Given the description of an element on the screen output the (x, y) to click on. 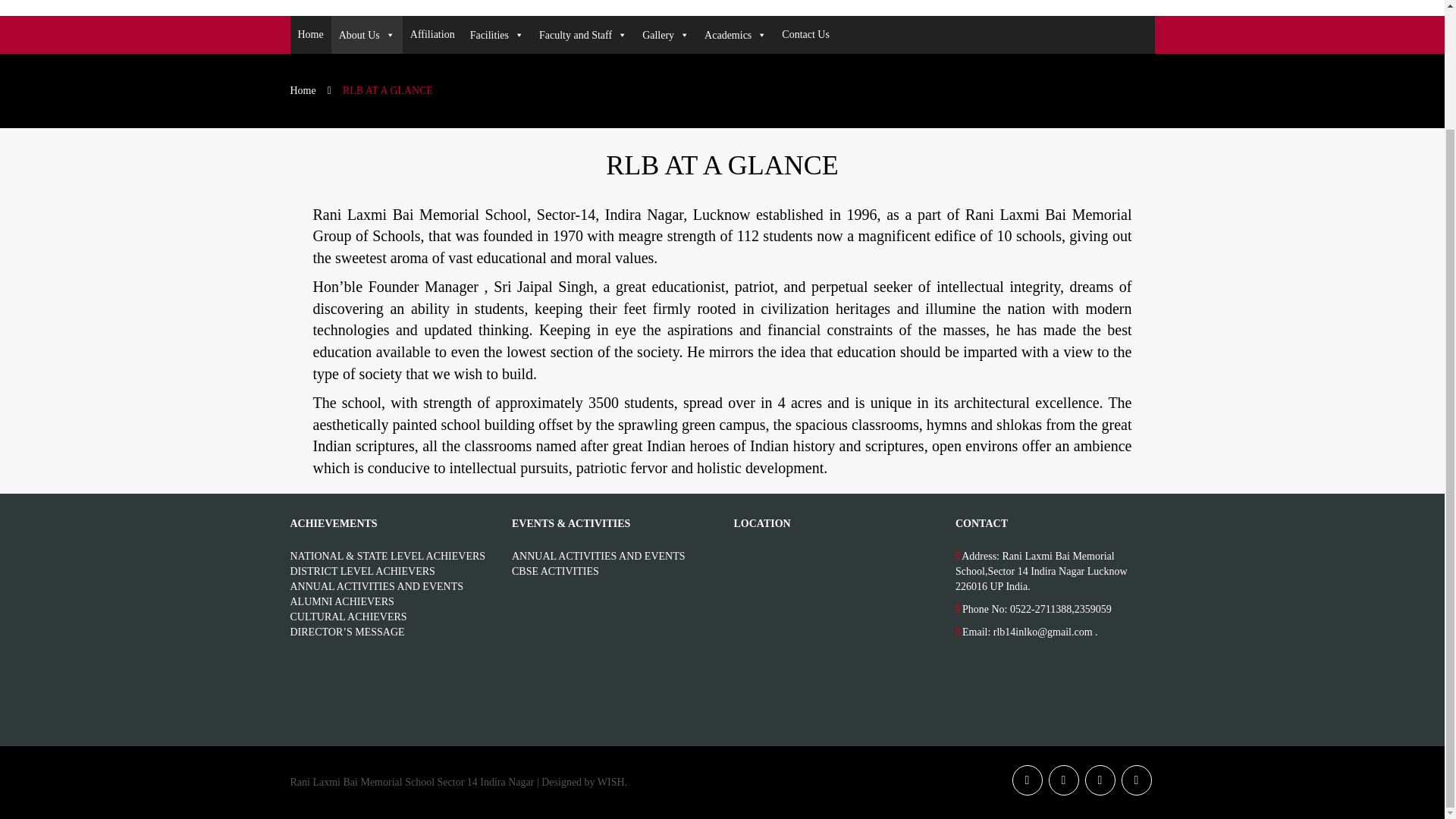
Faculty and Staff (582, 34)
Affiliation (433, 34)
Gallery (665, 34)
Academics (735, 34)
Home (309, 34)
About Us (367, 34)
Facilities (497, 34)
